Given the description of an element on the screen output the (x, y) to click on. 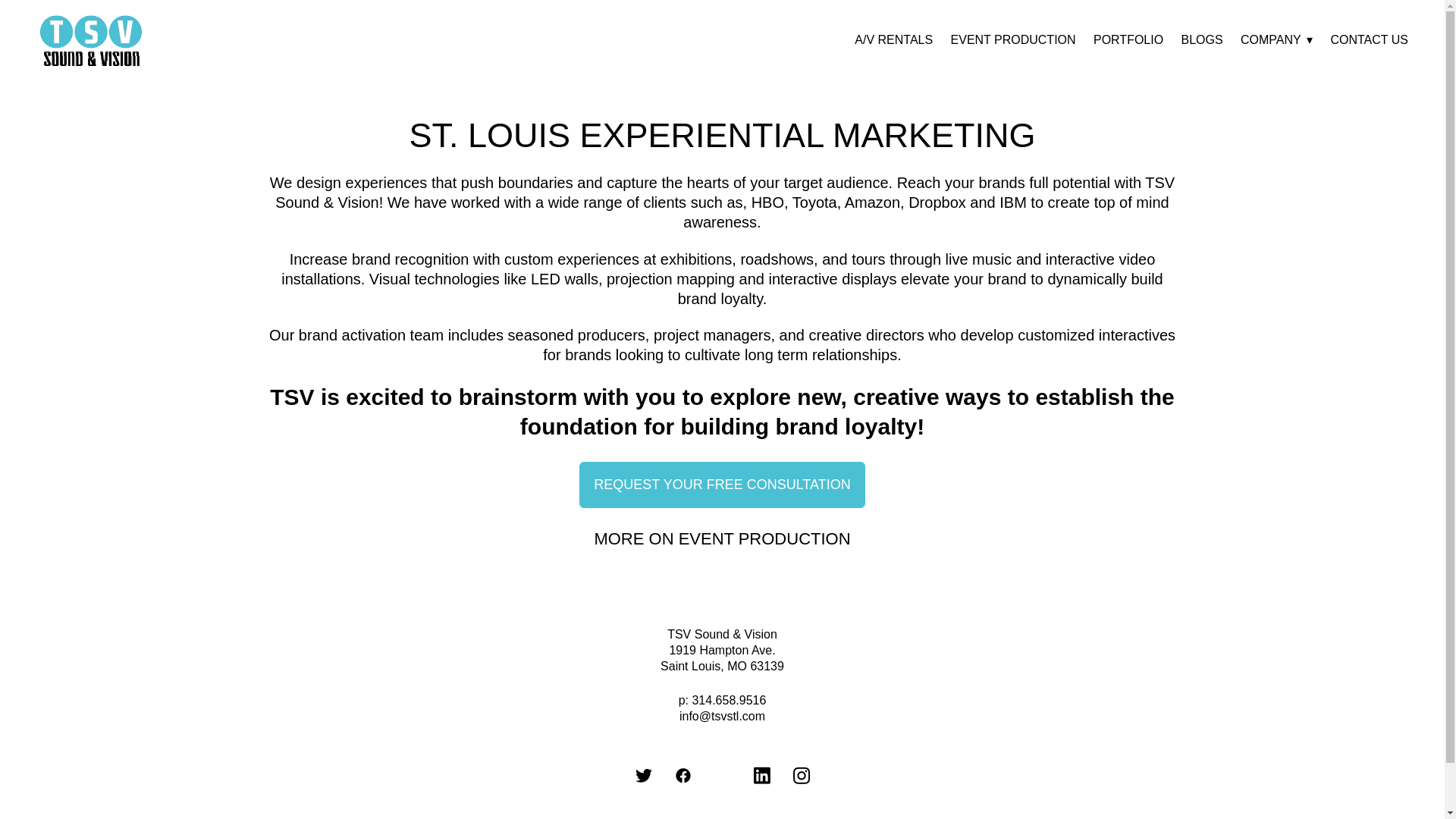
PORTFOLIO (1128, 40)
EVENT PRODUCTION (1012, 40)
CONTACT US (1368, 40)
BLOGS (1201, 40)
REQUEST YOUR FREE CONSULTATION (721, 484)
